Given the description of an element on the screen output the (x, y) to click on. 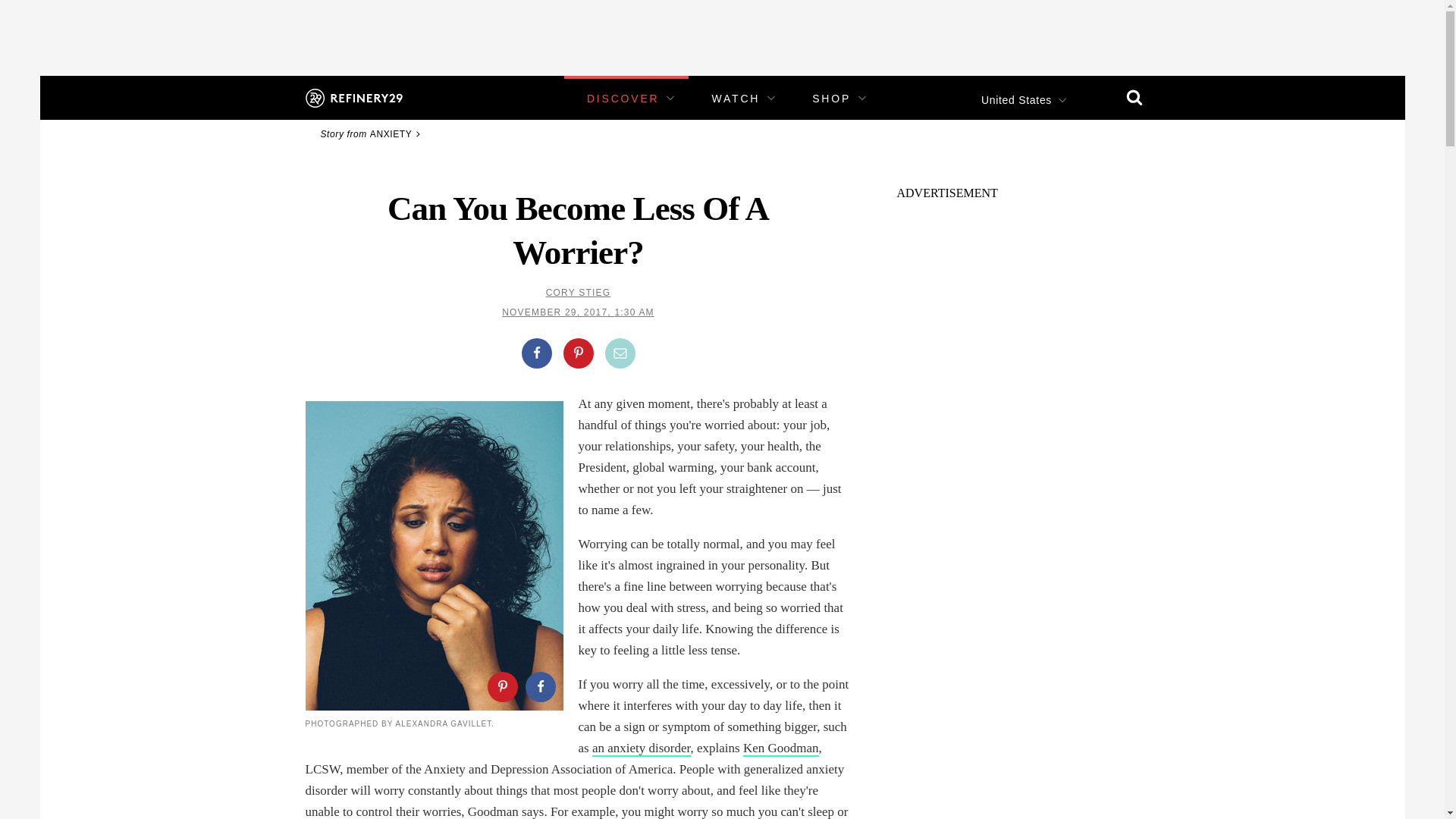
CORY STIEG (578, 292)
Story from ANXIETY (372, 133)
WATCH (735, 98)
an anxiety disorder (641, 748)
Share on Facebook (536, 353)
Share on Pinterest (501, 686)
Share on Pinterest (577, 353)
DISCOVER (622, 98)
Refinery29 (352, 97)
NOVEMBER 29, 2017, 1:30 AM (577, 312)
Share by Email (619, 353)
Ken Goodman (780, 748)
SHOP (831, 98)
Share on Facebook (539, 686)
